Given the description of an element on the screen output the (x, y) to click on. 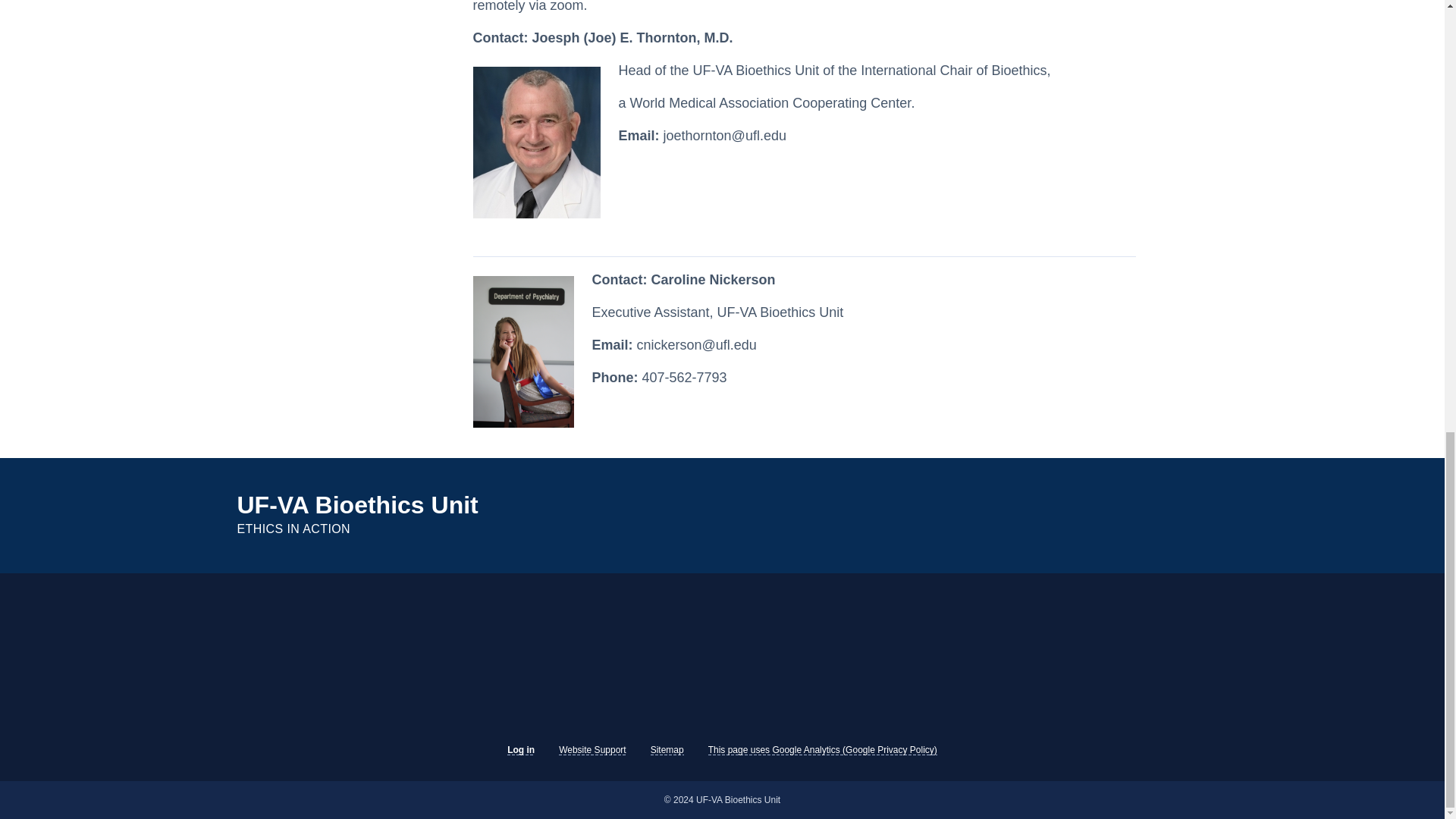
Sitemap (667, 749)
Log in (526, 515)
Website Support (520, 749)
Sitemap (592, 749)
Log in (667, 749)
Website Support (520, 749)
